Given the description of an element on the screen output the (x, y) to click on. 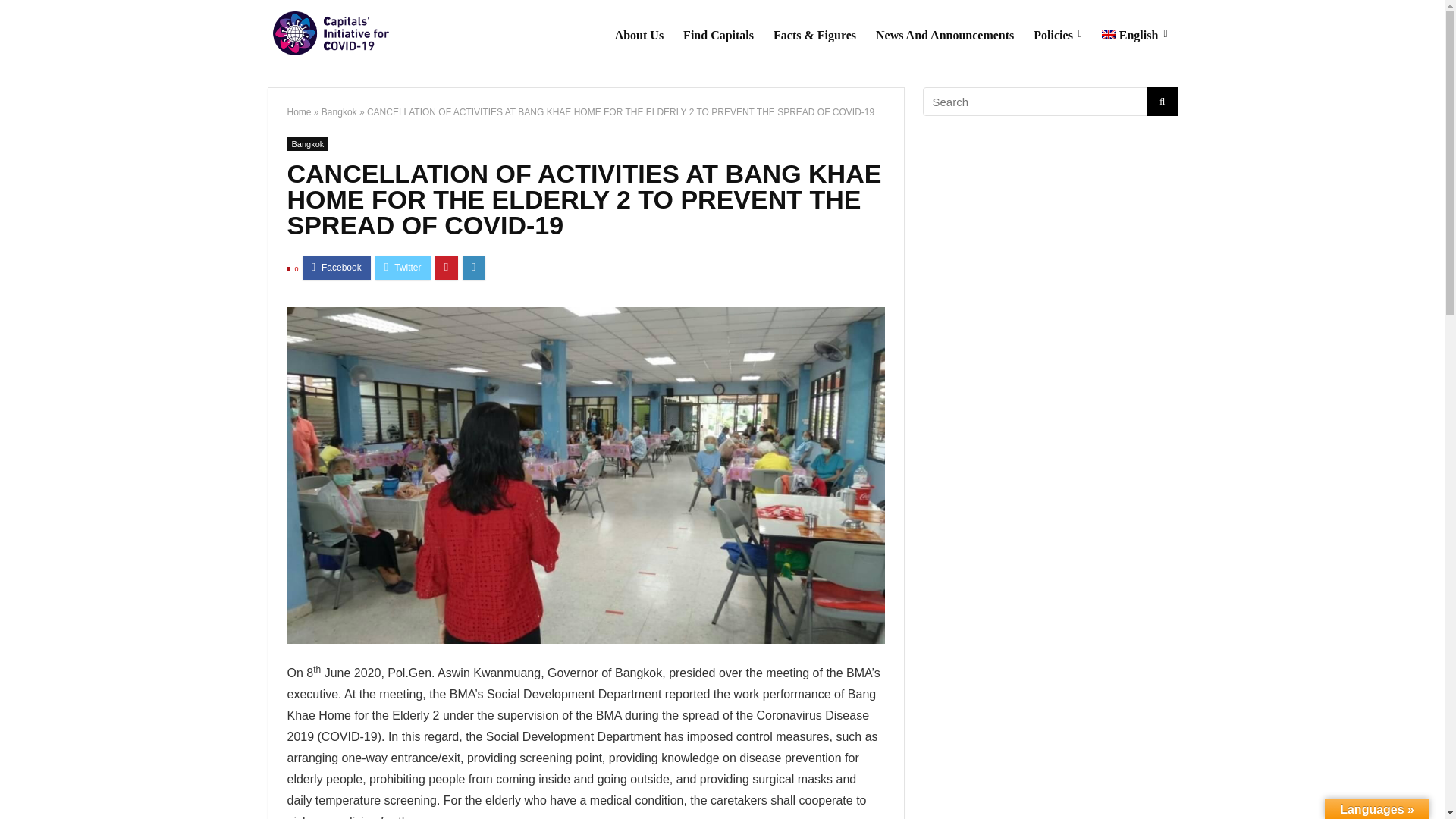
English (1134, 36)
View all posts in Bangkok (307, 143)
Bangkok (307, 143)
English (1134, 36)
Home (298, 112)
News And Announcements (944, 36)
Bangkok (338, 112)
Find Capitals (717, 36)
Policies (1057, 36)
About Us (638, 36)
